Given the description of an element on the screen output the (x, y) to click on. 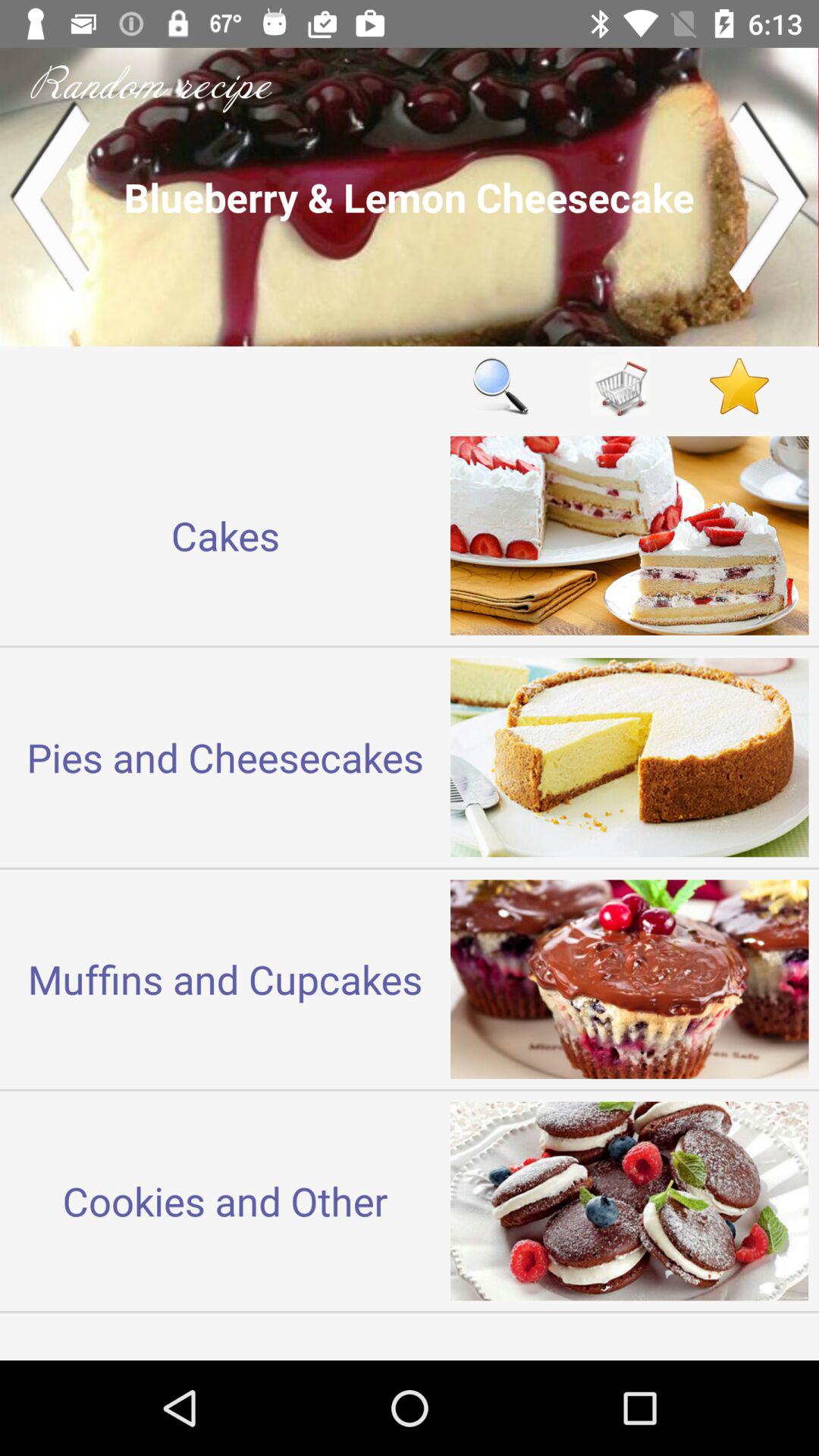
tap the icon above the muffins and cupcakes item (225, 756)
